Given the description of an element on the screen output the (x, y) to click on. 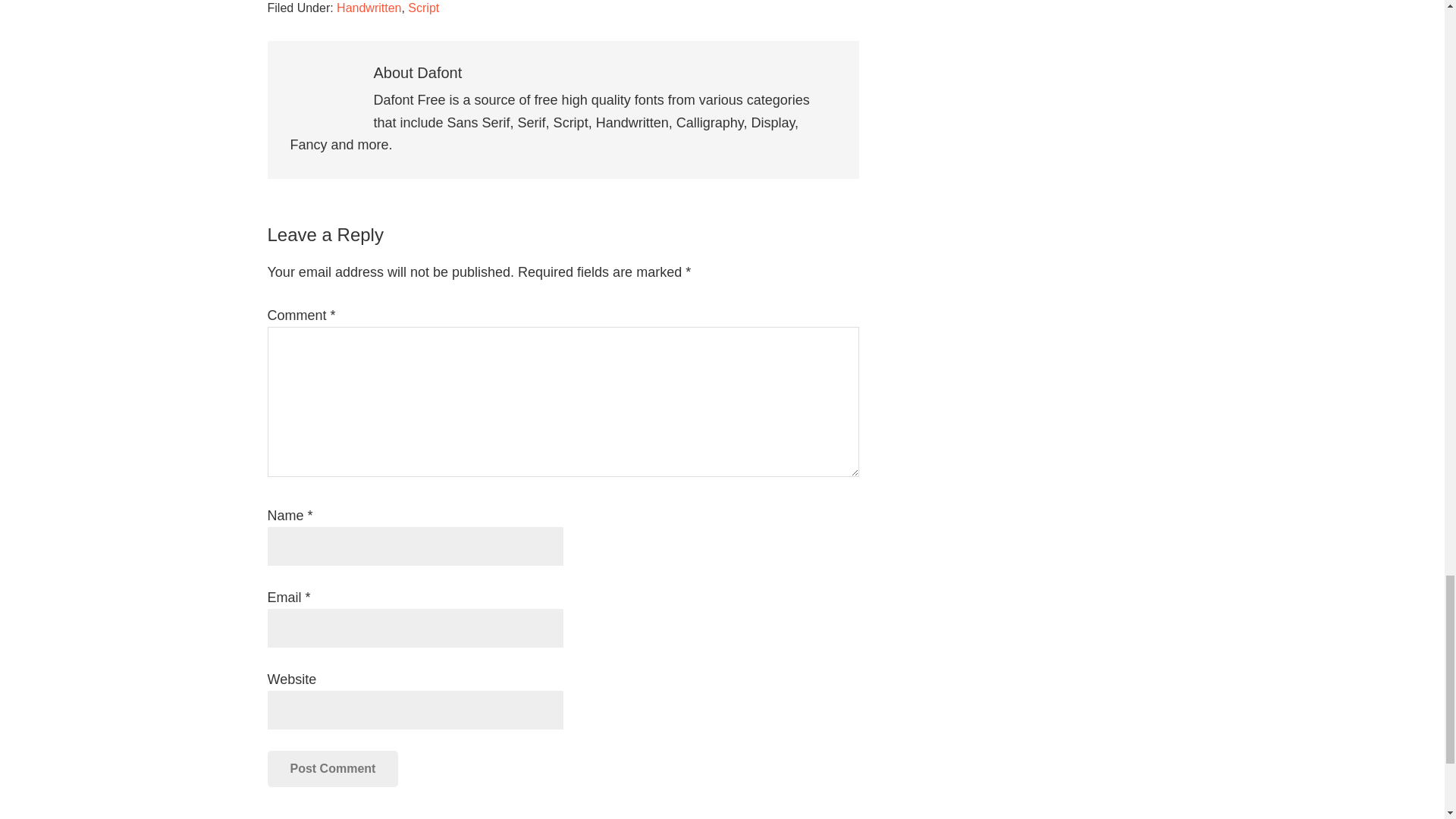
Handwritten (368, 7)
Script (423, 7)
Post Comment (331, 769)
Post Comment (331, 769)
